Given the description of an element on the screen output the (x, y) to click on. 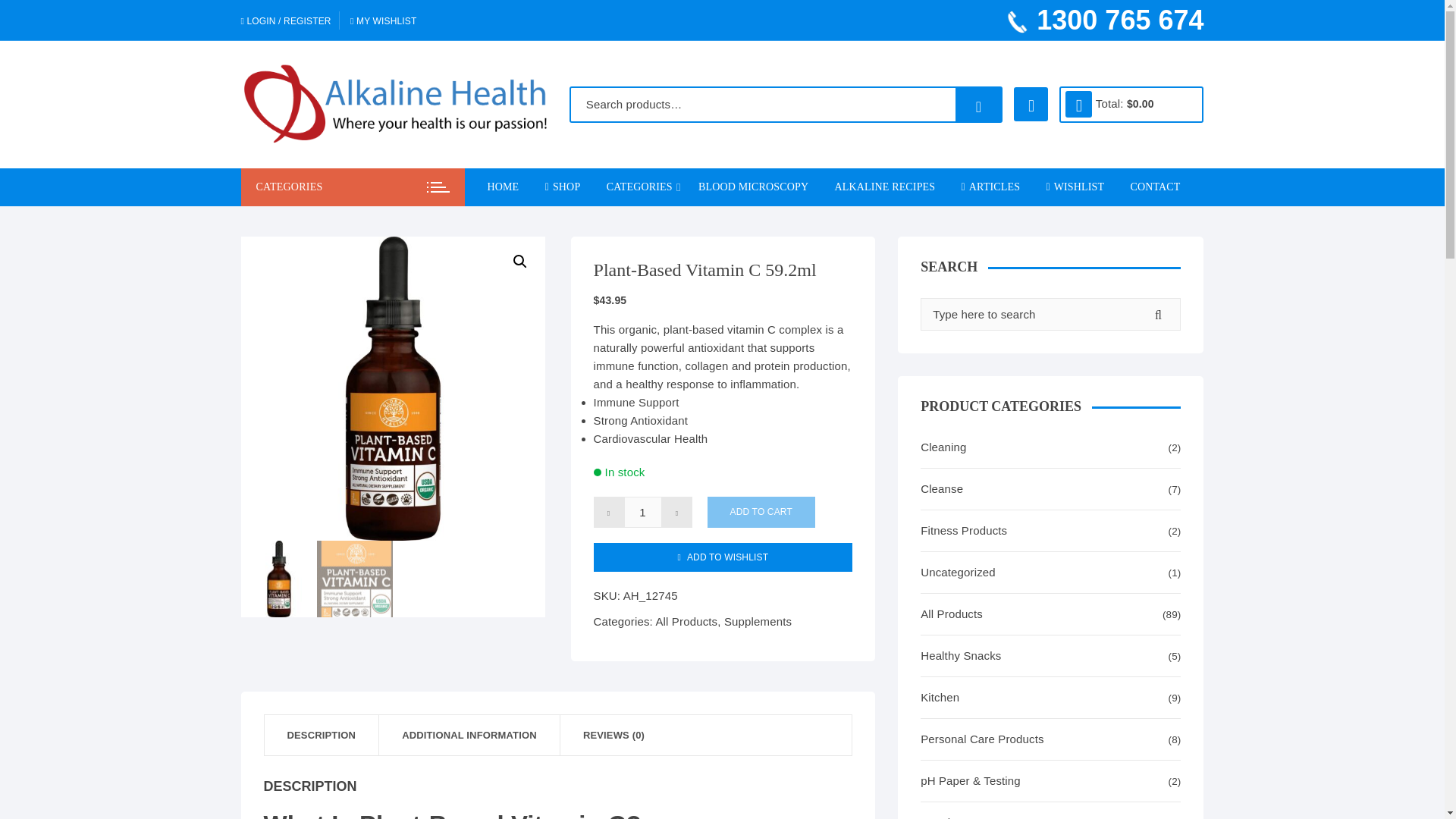
CATEGORIES (639, 187)
Personal Care Products (689, 406)
Fitness Products (689, 515)
CONTACT (1155, 187)
Supplements (689, 224)
1 (643, 511)
Pre-Loved Equipment (689, 551)
Cleanse (689, 260)
HOME (507, 187)
ALKALINE RECIPES (885, 187)
Healthy Snacks (689, 370)
WISHLIST (1074, 187)
ARTICLES (991, 187)
MY WISHLIST (383, 20)
Water Purification (689, 297)
